Given the description of an element on the screen output the (x, y) to click on. 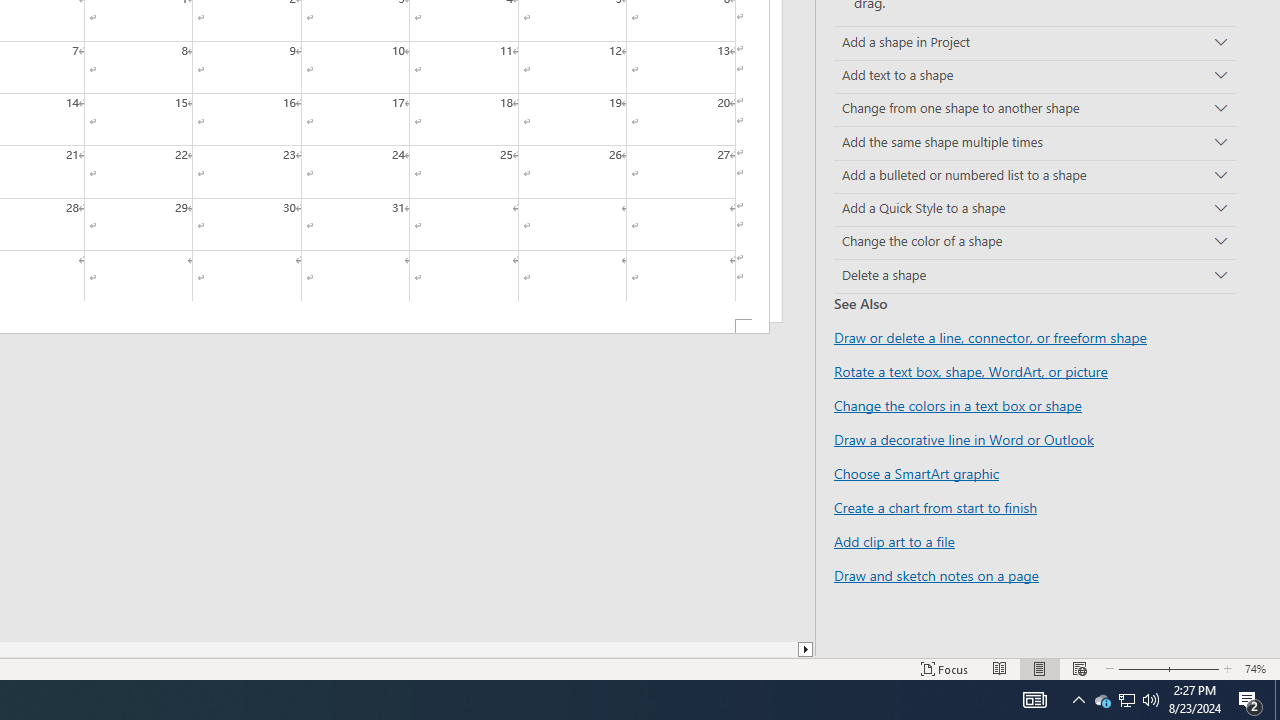
Add text to a shape (1035, 76)
Add clip art to a file (894, 541)
Change the colors in a text box or shape (957, 405)
Choose a SmartArt graphic (916, 473)
Draw and sketch notes on a page (936, 574)
Add the same shape multiple times (1035, 142)
Add a bulleted or numbered list to a shape (1035, 176)
Column right (806, 649)
Add a Quick Style to a shape (1035, 209)
Rotate a text box, shape, WordArt, or picture (971, 371)
